Given the description of an element on the screen output the (x, y) to click on. 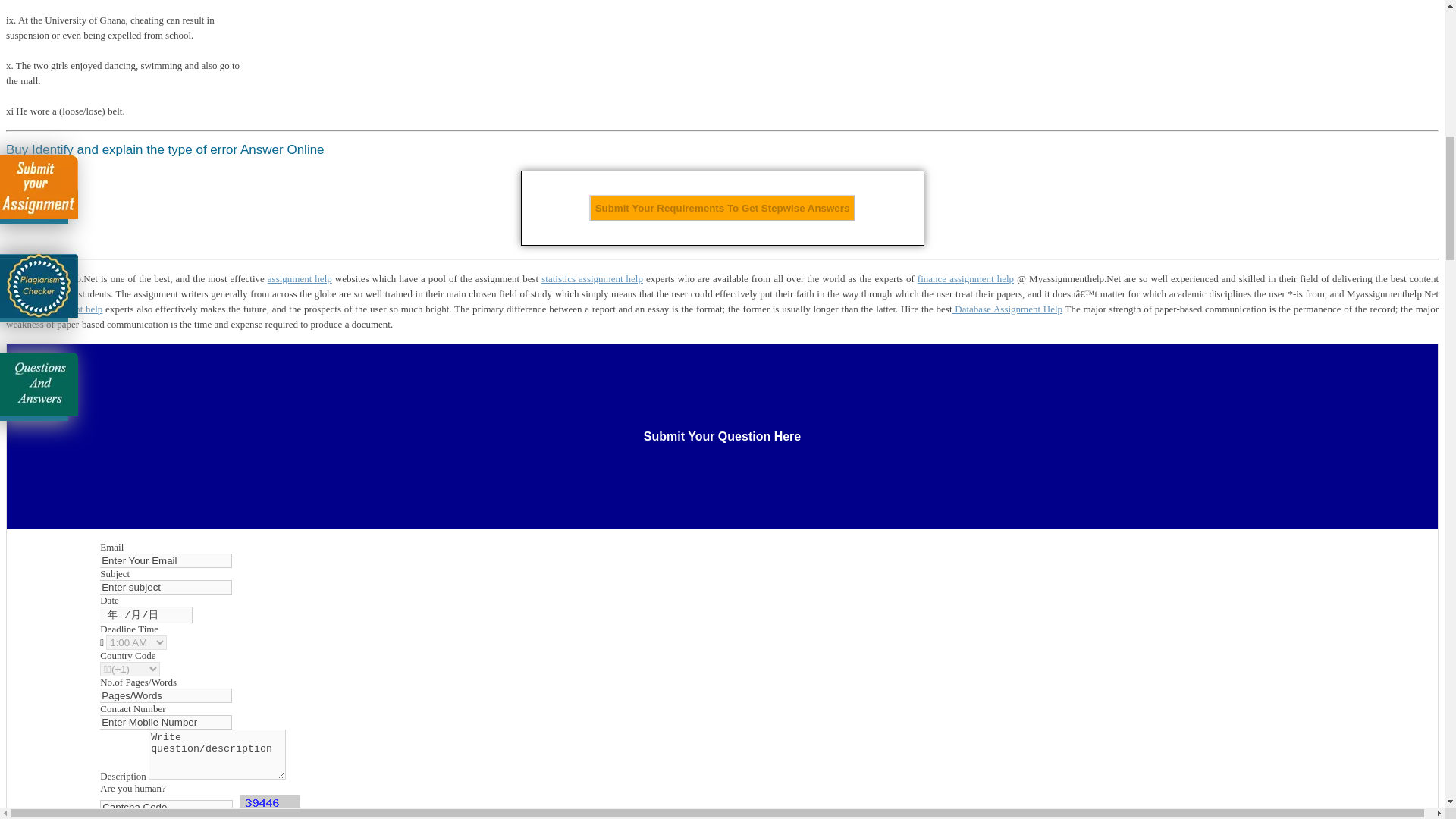
assignment help (299, 278)
nursing assignment help (53, 308)
finance assignment help (965, 278)
Database Assignment Help (1007, 308)
statistics assignment help (592, 278)
Submit Your Requirements To Get Stepwise Answers (722, 207)
